Given the description of an element on the screen output the (x, y) to click on. 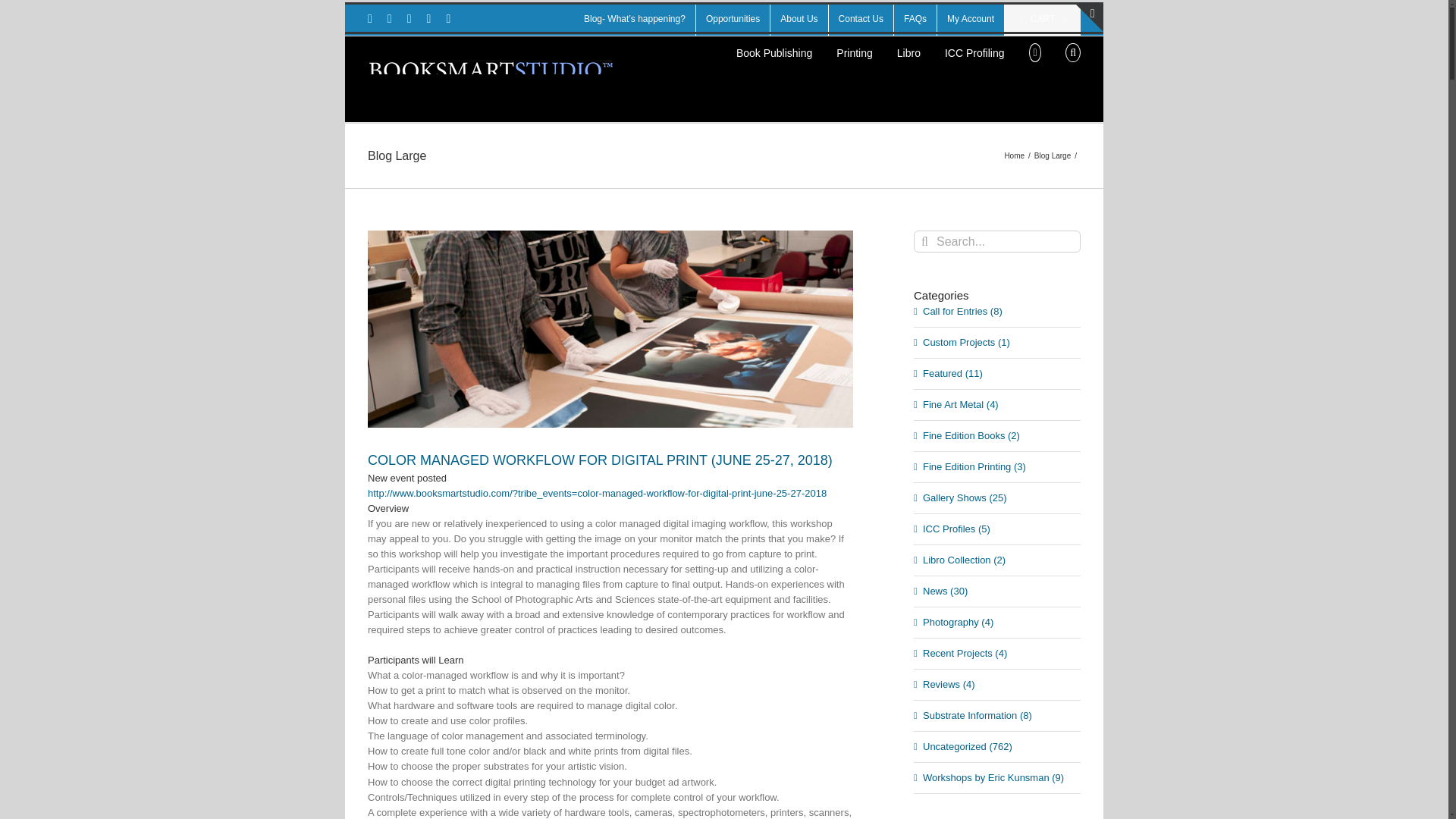
Book Publishing (774, 51)
Contact Us (860, 19)
About Us (798, 19)
CART (1042, 19)
My Account (970, 19)
Printing (853, 51)
Opportunities (732, 19)
Log In (969, 195)
FAQs (914, 19)
